Given the description of an element on the screen output the (x, y) to click on. 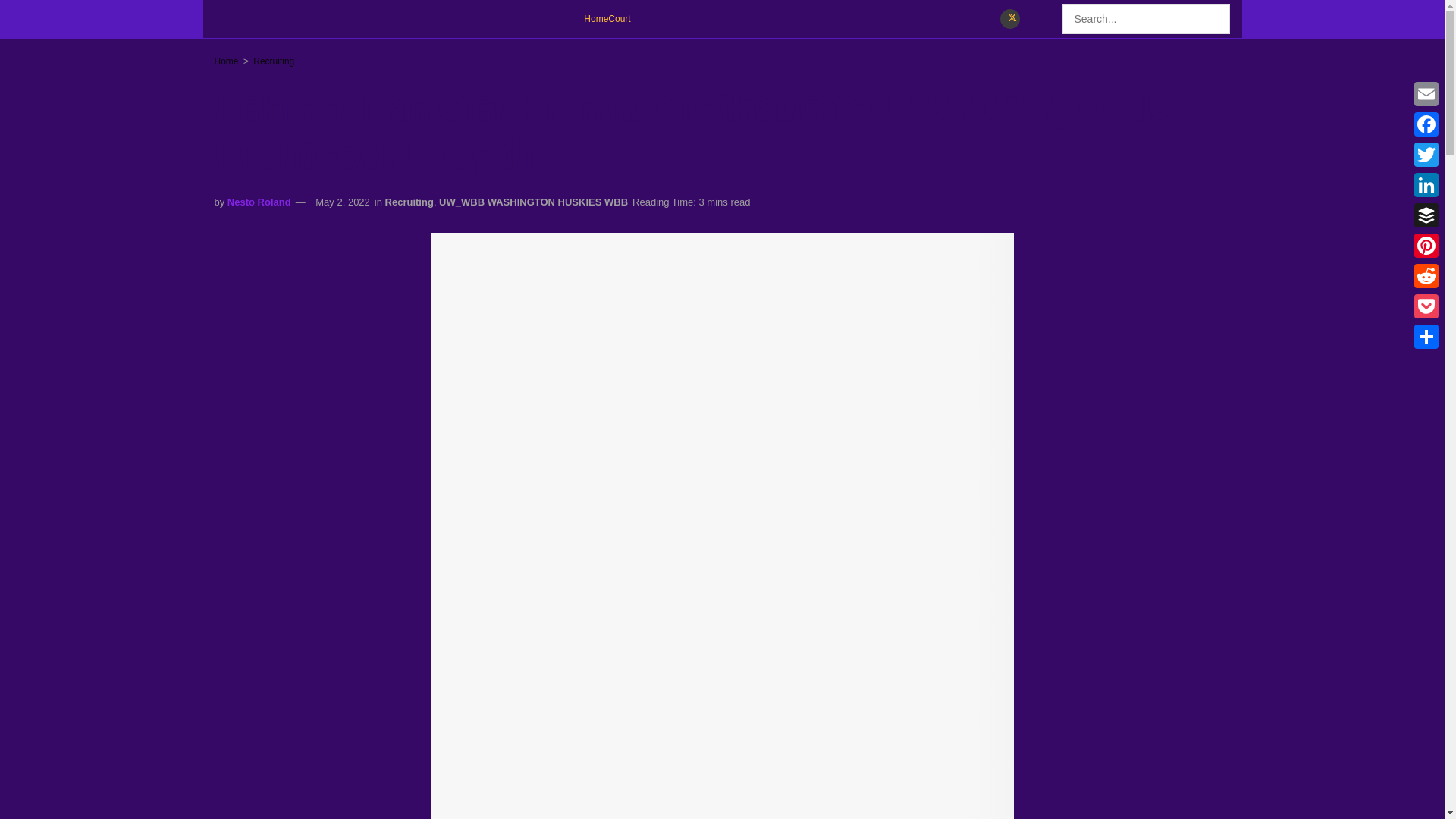
Email (1425, 93)
Home (226, 61)
Nesto Roland (259, 202)
Recruiting (409, 202)
Recruiting (273, 61)
HomeCourt (606, 18)
May 2, 2022 (342, 202)
